Given the description of an element on the screen output the (x, y) to click on. 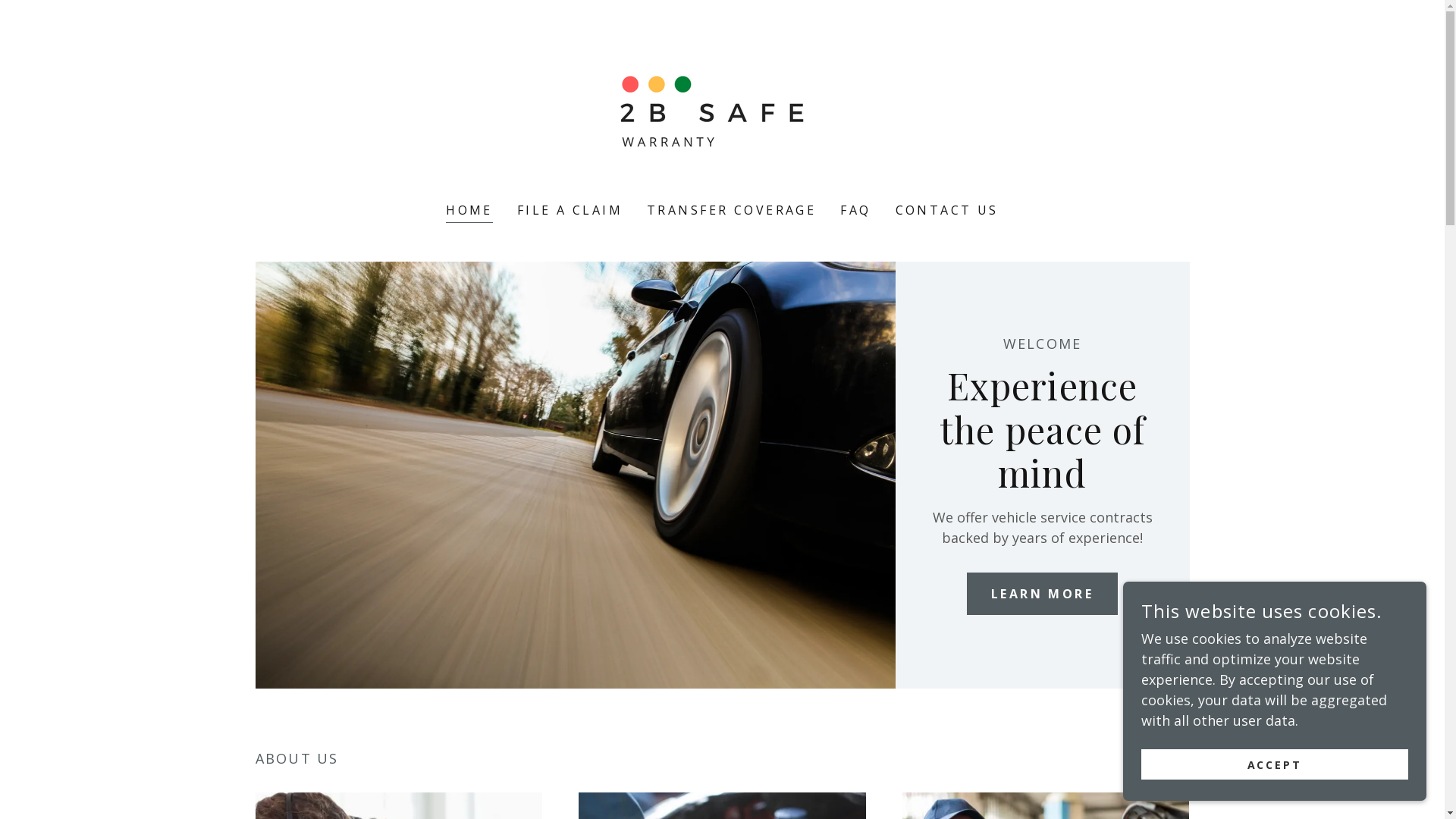
LEARN MORE Element type: text (1041, 593)
FAQ Element type: text (855, 209)
2B Safe Warranty Element type: hover (721, 110)
FILE A CLAIM Element type: text (569, 209)
TRANSFER COVERAGE Element type: text (731, 209)
HOME Element type: text (468, 211)
ACCEPT Element type: text (1274, 764)
CONTACT US Element type: text (947, 209)
